Given the description of an element on the screen output the (x, y) to click on. 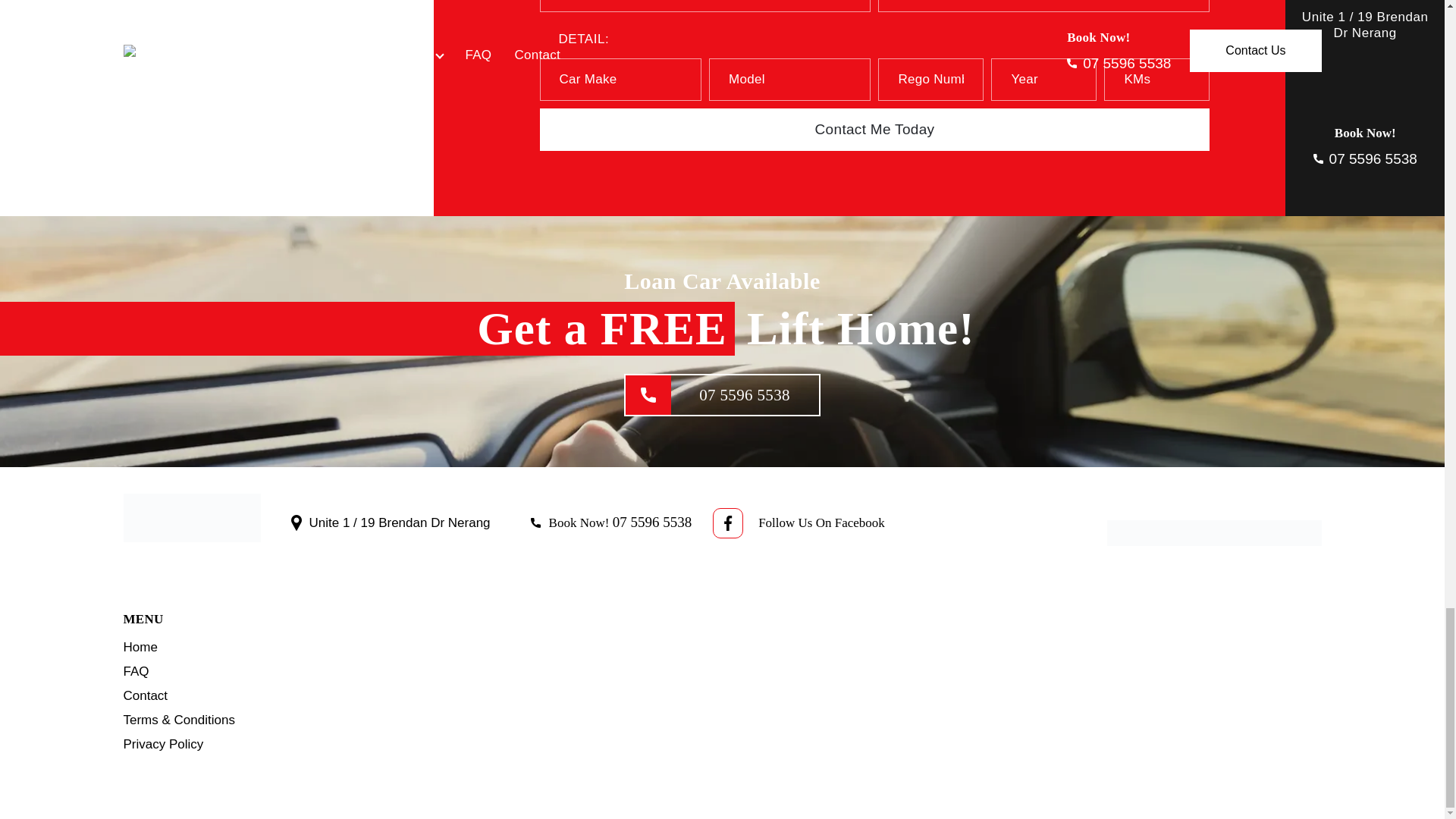
Contact (144, 695)
07 5596 5538 (1364, 158)
Home (139, 646)
FAQ (135, 671)
Follow Us On Facebook (821, 522)
Contact Me Today (874, 129)
07 5596 5538 (652, 522)
07 5596 5538 (722, 394)
Privacy Policy (162, 744)
